Given the description of an element on the screen output the (x, y) to click on. 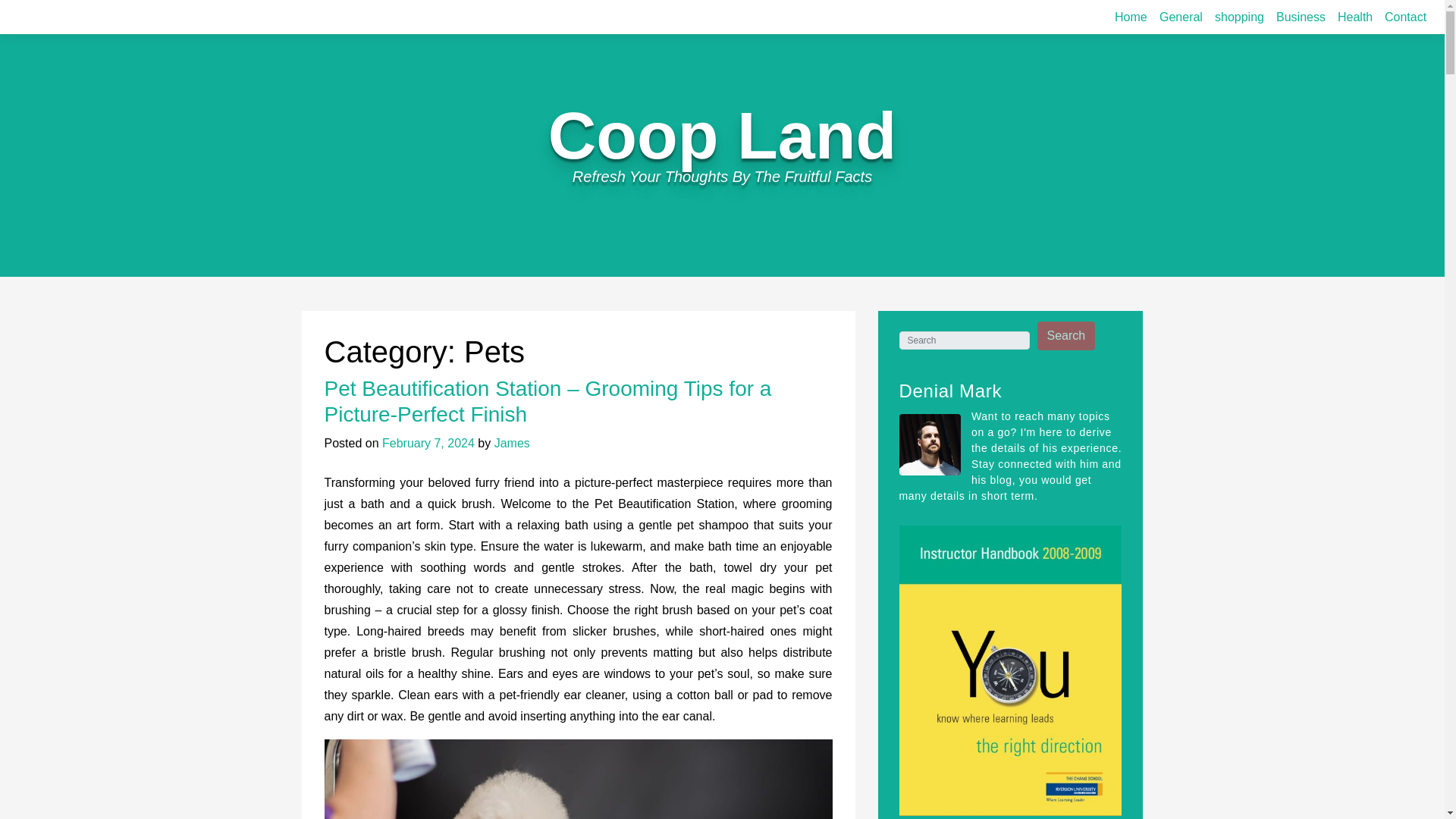
Contact (1405, 16)
Business (1300, 16)
General (1180, 16)
Home (1130, 16)
General (1180, 16)
Health (1355, 16)
Contact (1405, 16)
February 7, 2024 (427, 442)
Business (1300, 16)
shopping (1238, 16)
James (512, 442)
shopping (1238, 16)
Health (1355, 16)
Home (1130, 16)
